Given the description of an element on the screen output the (x, y) to click on. 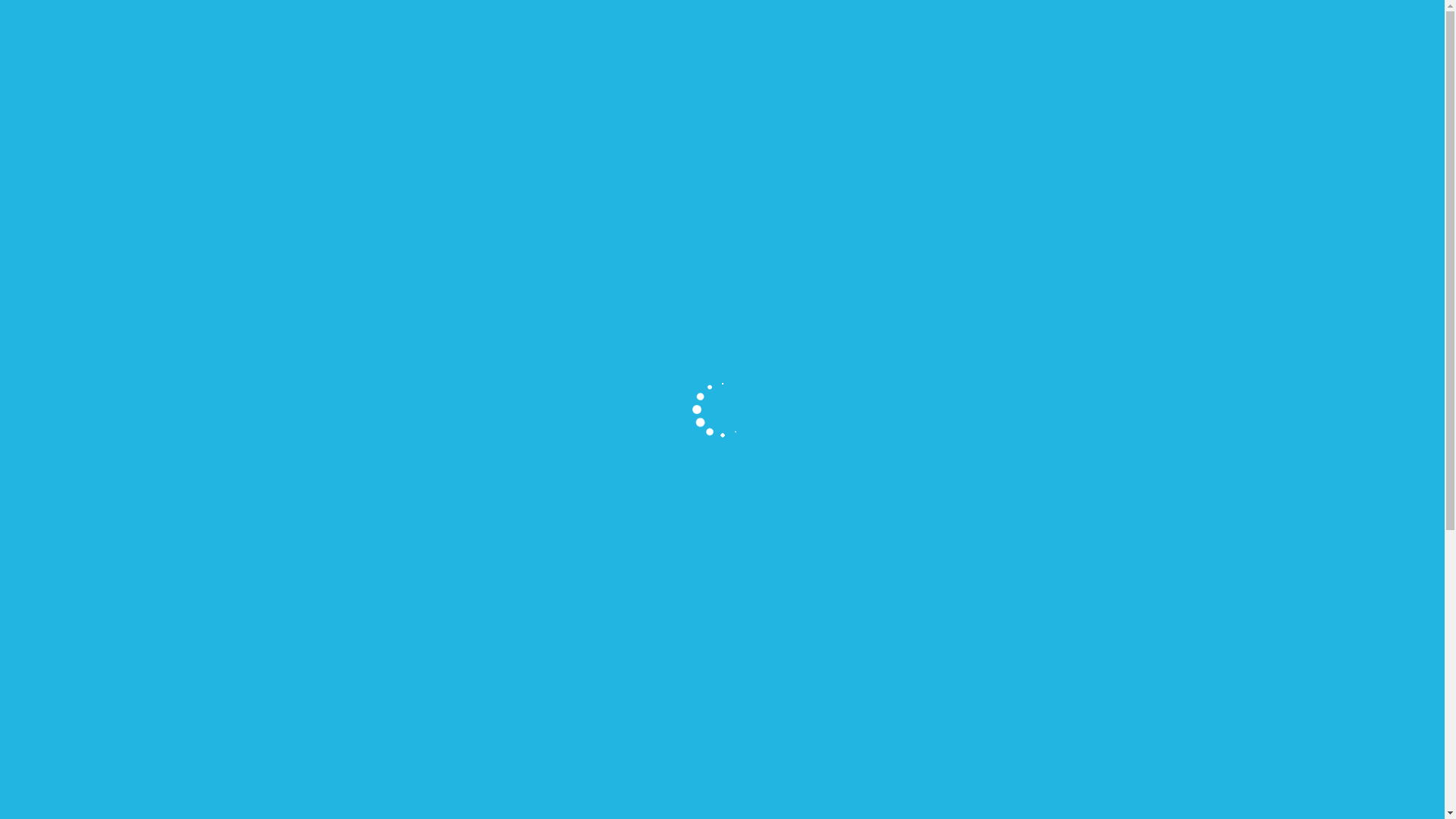
ZONALAR Element type: text (640, 137)
HAQQIMIZDA Element type: text (442, 137)
